Given the description of an element on the screen output the (x, y) to click on. 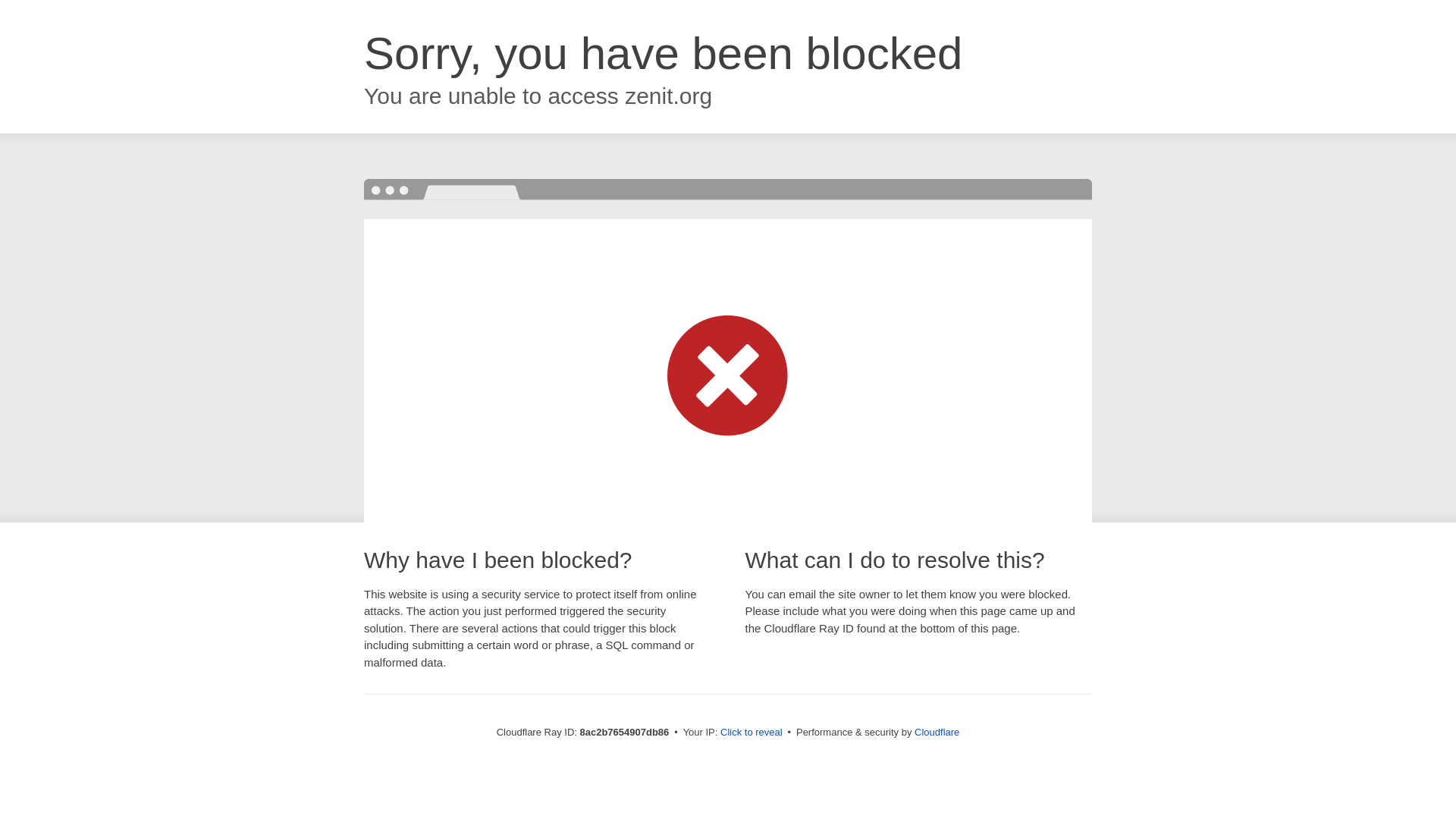
Click to reveal (751, 732)
Cloudflare (936, 731)
